Given the description of an element on the screen output the (x, y) to click on. 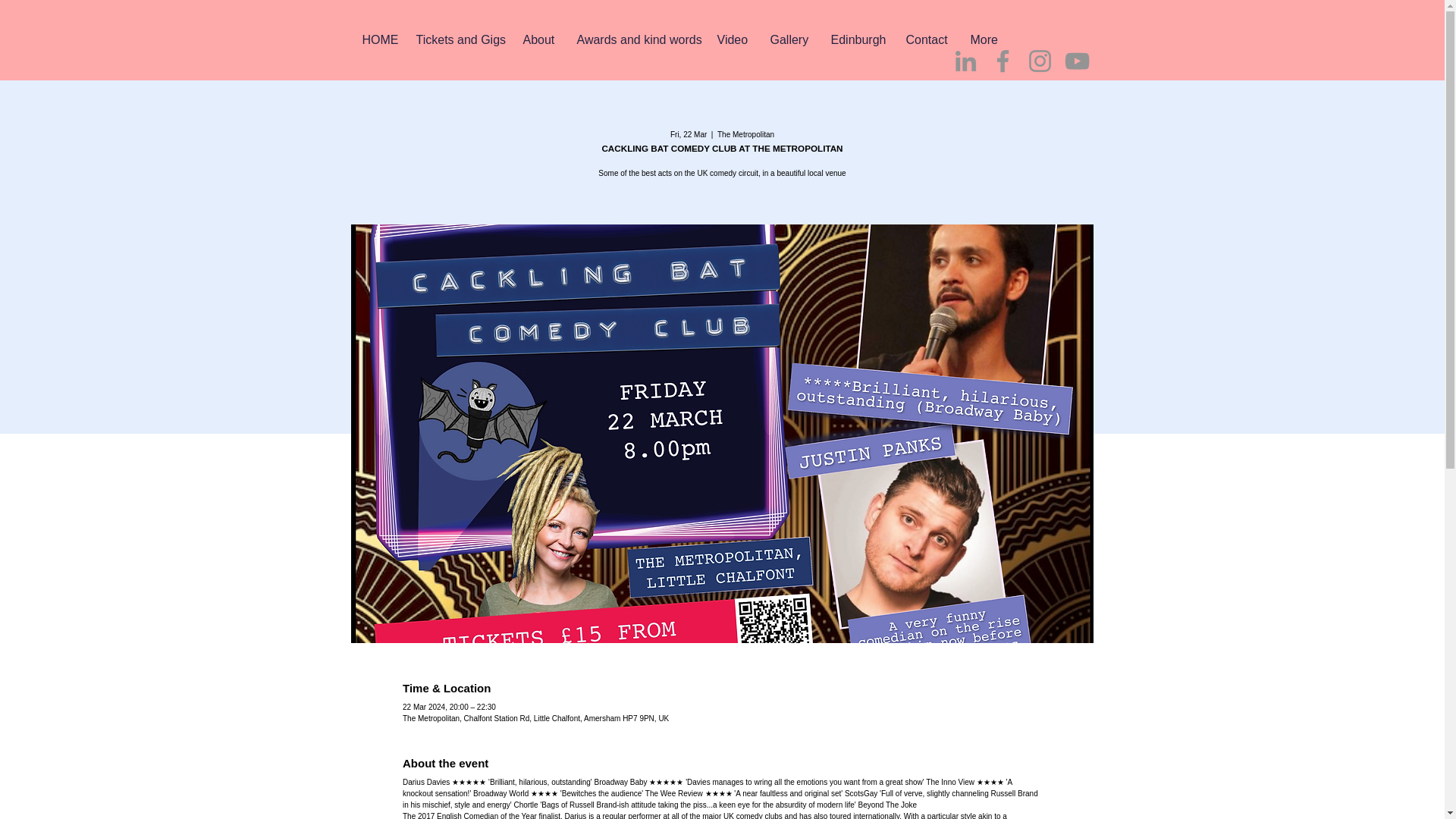
HOME (377, 39)
Gallery (788, 39)
Contact (927, 39)
Tickets and Gigs (458, 39)
Video (731, 39)
About (537, 39)
Edinburgh (855, 39)
Awards and kind words (636, 39)
